Given the description of an element on the screen output the (x, y) to click on. 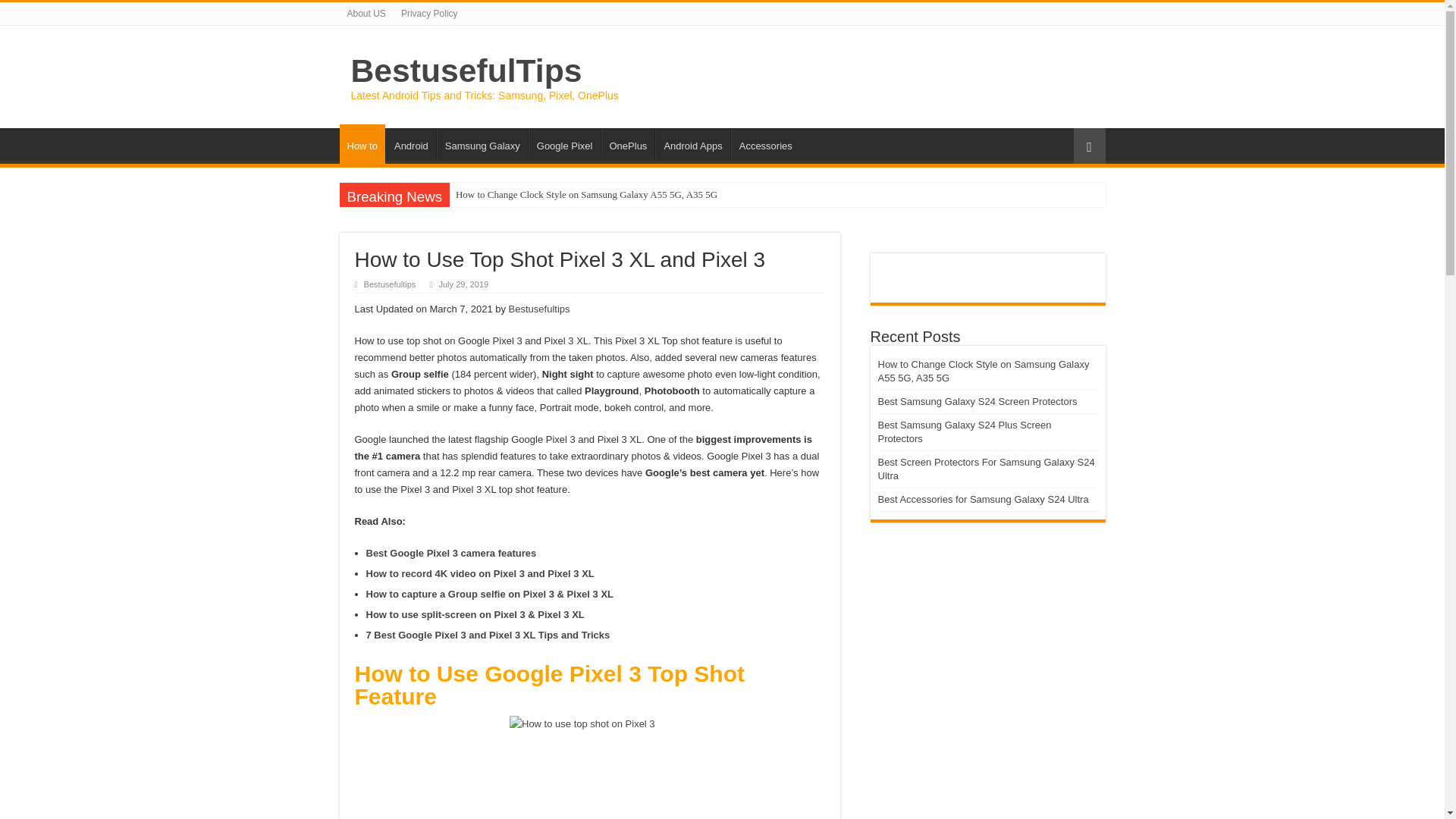
Bestusefultips (390, 284)
How to (362, 143)
Best Google Pixel 3 camera features (450, 552)
How to record 4K video on Pixel 3 and Pixel 3 XL (479, 573)
Accessories (764, 143)
OnePlus (626, 143)
How to Change Clock Style on Samsung Galaxy A55 5G, A35 5G (586, 194)
Android Apps (692, 143)
Bestusefultips (539, 308)
About US (366, 13)
Google Pixel (563, 143)
Android (410, 143)
Samsung Galaxy (481, 143)
Random Article (1089, 145)
How to Change Clock Style on Samsung Galaxy A55 5G, A35 5G (586, 194)
